Given the description of an element on the screen output the (x, y) to click on. 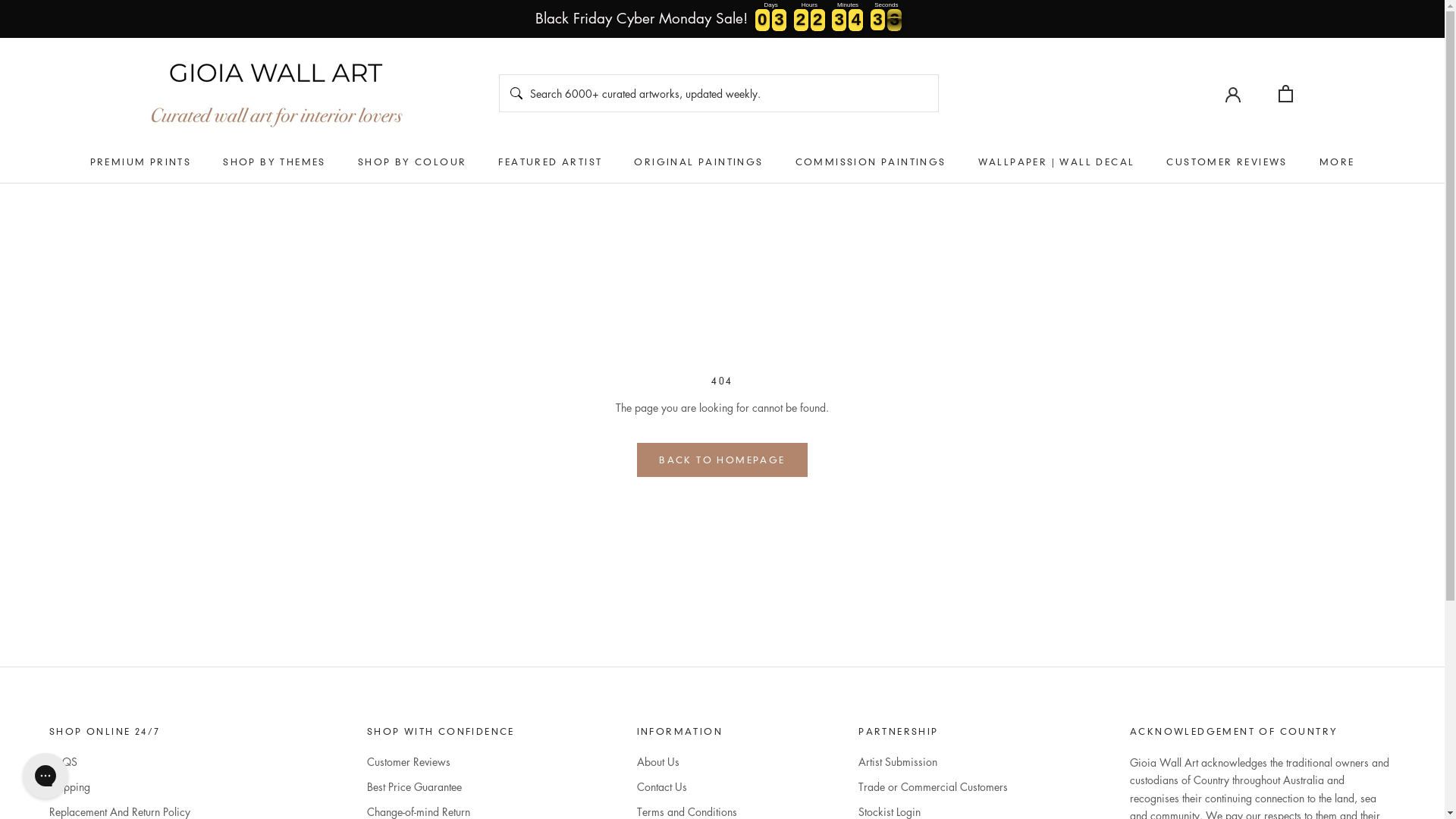
Shipping Element type: text (146, 786)
Trade or Commercial Customers Element type: text (932, 786)
4
4 Element type: text (877, 20)
FEATURED ARTIST
FEATURED ARTIST Element type: text (550, 161)
2
2 Element type: text (838, 20)
WALLPAPER | WALL DECAL
WALLPAPER | WALL DECAL Element type: text (1056, 161)
CUSTOMER REVIEWS
CUSTOMER REVIEWS Element type: text (1226, 161)
Gorgias live chat messenger Element type: hover (45, 775)
1
1 Element type: text (817, 20)
Artist Submission Element type: text (932, 761)
SHOP BY COLOUR
SHOP BY COLOUR Element type: text (412, 161)
2
2 Element type: text (778, 20)
1
1 Element type: text (800, 20)
FAQS Element type: text (146, 761)
MORE
MORE Element type: text (1337, 161)
SHOP BY THEMES
SHOP BY THEMES Element type: text (274, 161)
ORIGINAL PAINTINGS
ORIGINAL PAINTINGS Element type: text (697, 161)
BACK TO HOMEPAGE Element type: text (721, 459)
PREMIUM PRINTS
PREMIUM PRINTS Element type: text (140, 161)
Best Price Guarantee Element type: text (440, 786)
3
3 Element type: text (855, 20)
Contact Us Element type: text (687, 786)
COMMISSION PAINTINGS
COMMISSION PAINTINGS Element type: text (870, 161)
About Us Element type: text (687, 761)
9
9 Element type: text (762, 20)
Customer Reviews Element type: text (440, 761)
